Given the description of an element on the screen output the (x, y) to click on. 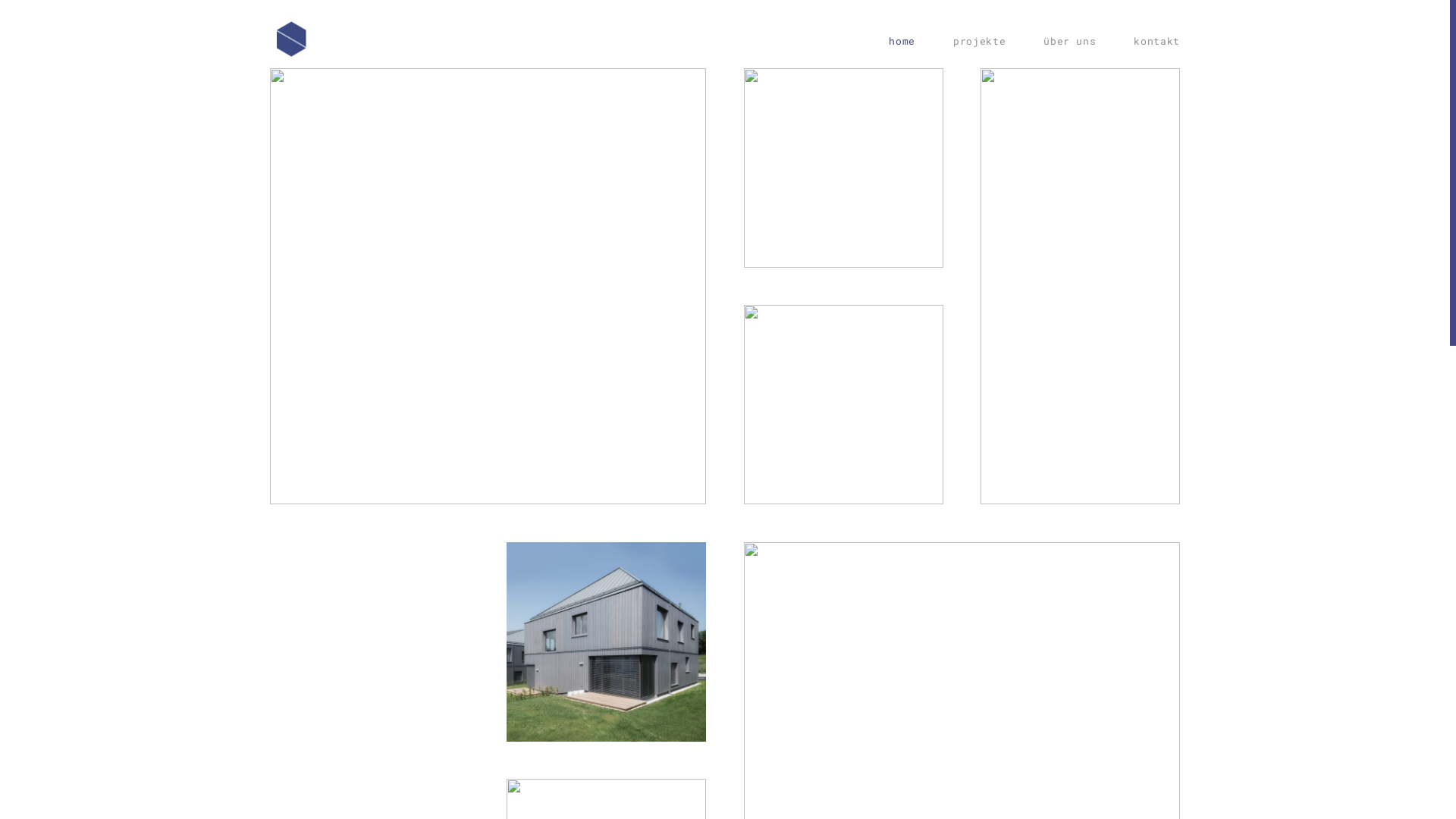
kontakt Element type: text (1146, 40)
projekte Element type: text (979, 40)
home Element type: text (911, 40)
